Given the description of an element on the screen output the (x, y) to click on. 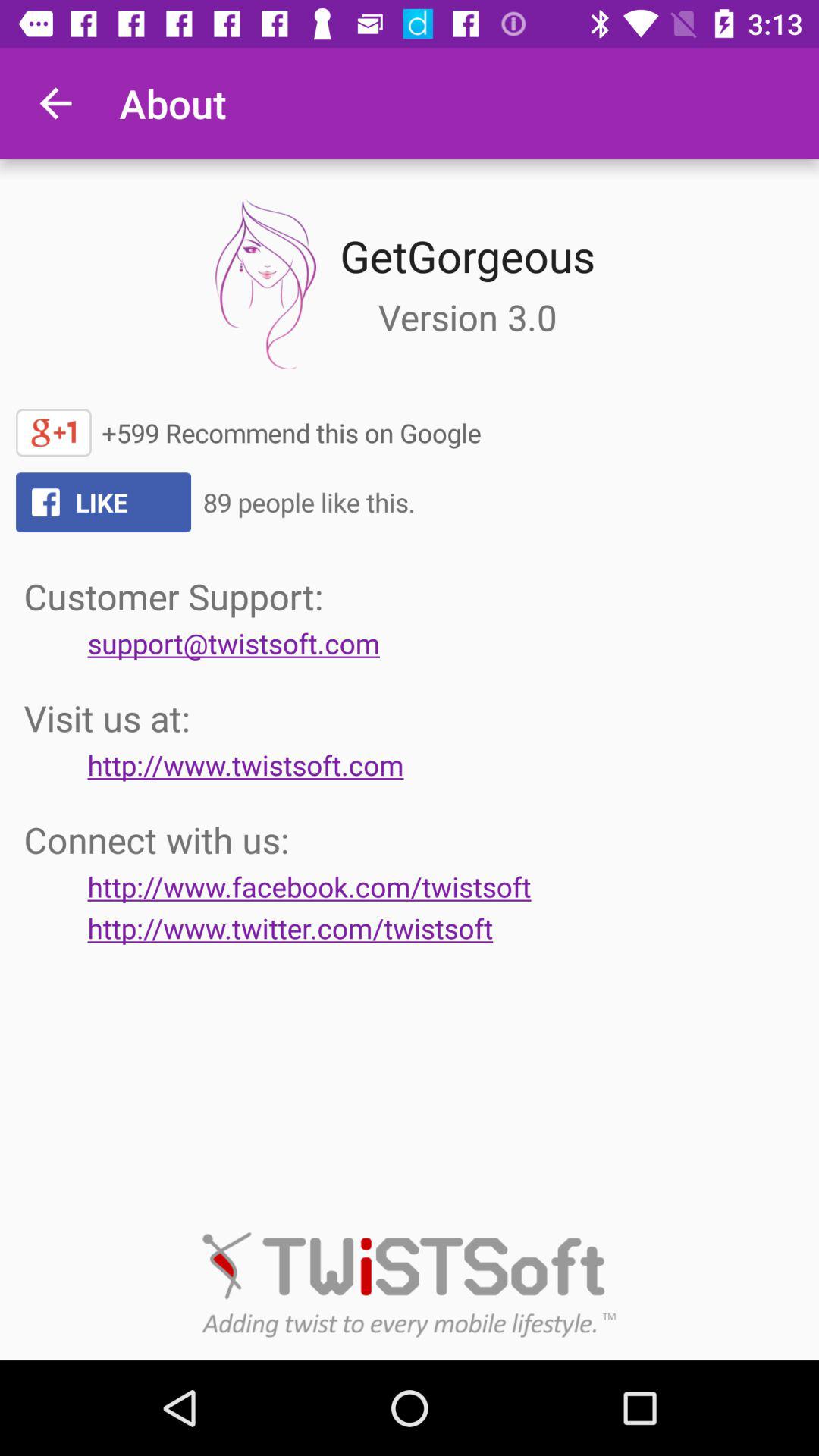
click the text like (102, 501)
click on hyper link below visit us at (245, 764)
click on the last link from the bottom of web page (290, 927)
click the button below the text connect with us on the web page (309, 886)
click the button below the text customer support on the web page (233, 643)
